Given the description of an element on the screen output the (x, y) to click on. 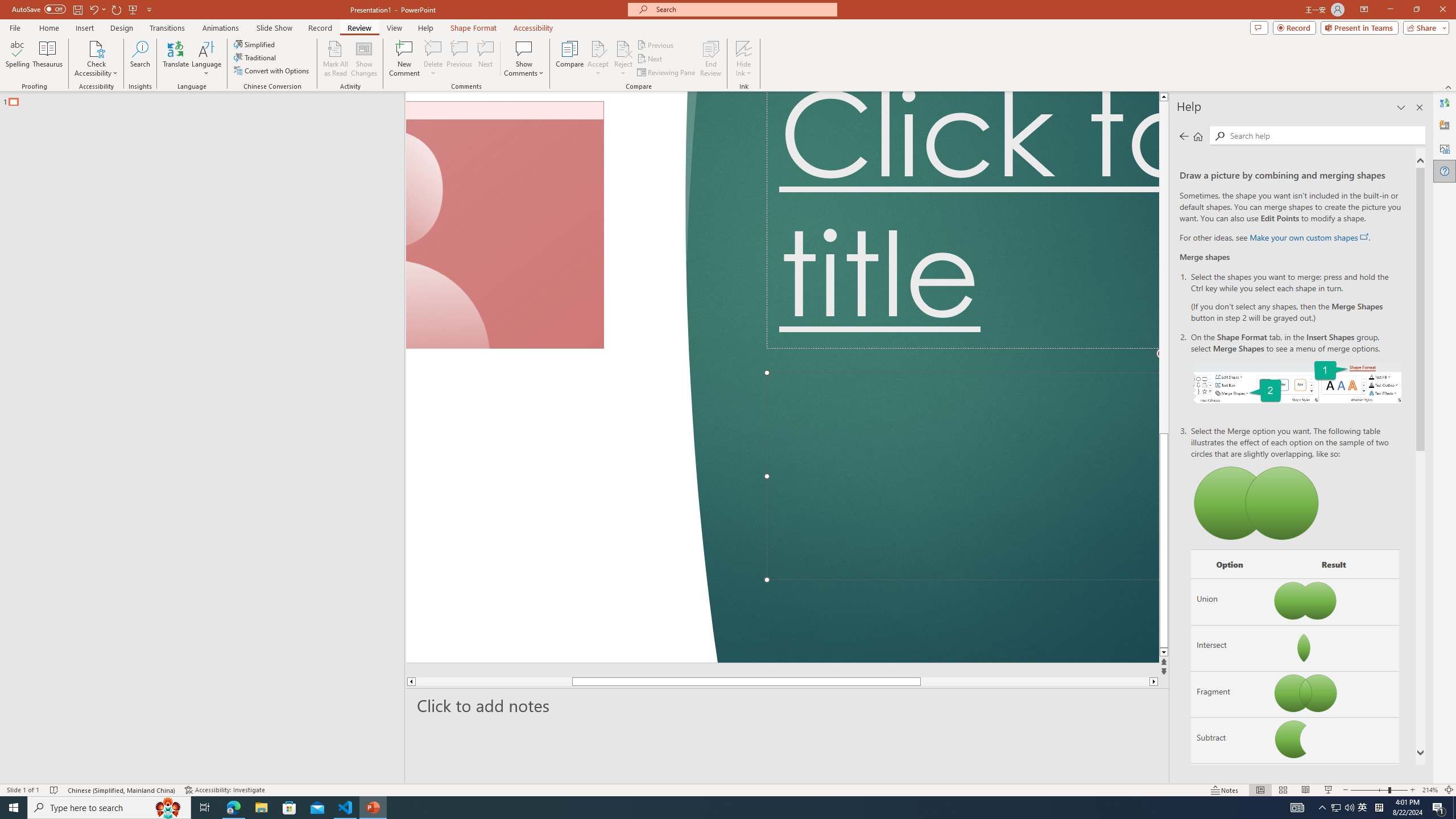
Combine (1229, 786)
Zoom 214% (1430, 790)
Thesaurus... (47, 58)
Traditional (255, 56)
Fragment (1229, 693)
Accept (598, 58)
Reviewing Pane (666, 72)
